Given the description of an element on the screen output the (x, y) to click on. 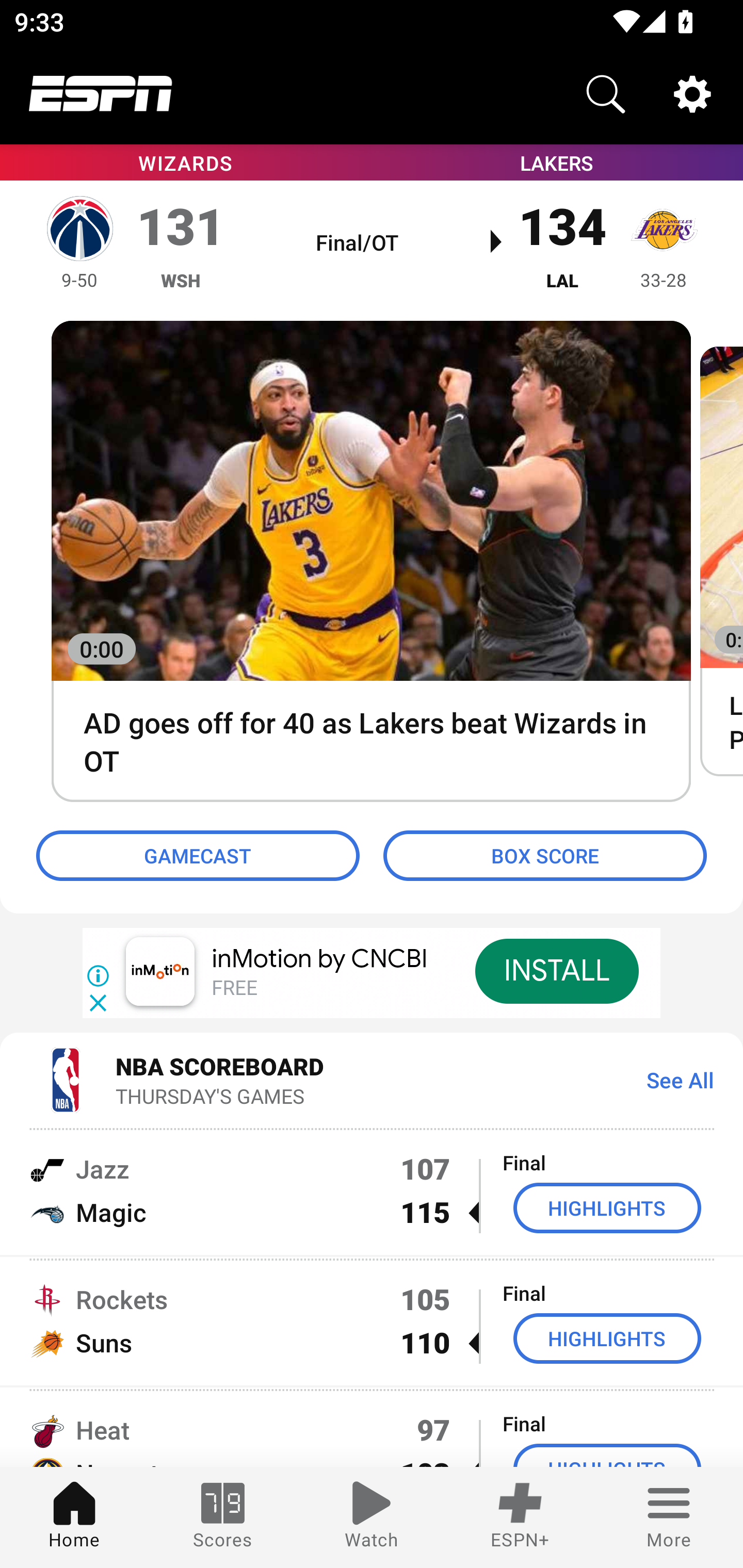
Search (605, 93)
Settings (692, 93)
GAMECAST (197, 856)
BOX SCORE (544, 856)
INSTALL (556, 971)
inMotion by CNCBI (319, 959)
FREE (234, 988)
NBA SCOREBOARD THURSDAY'S GAMES See All (371, 1079)
Jazz 107 Final Magic 115  HIGHLIGHTS (371, 1189)
HIGHLIGHTS (607, 1208)
Rockets 105 Final Suns 110  HIGHLIGHTS (371, 1321)
HIGHLIGHTS (607, 1338)
Heat 97 Final Nuggets 103  HIGHLIGHTS (371, 1427)
Scores (222, 1517)
Watch (371, 1517)
ESPN+ (519, 1517)
More (668, 1517)
